Given the description of an element on the screen output the (x, y) to click on. 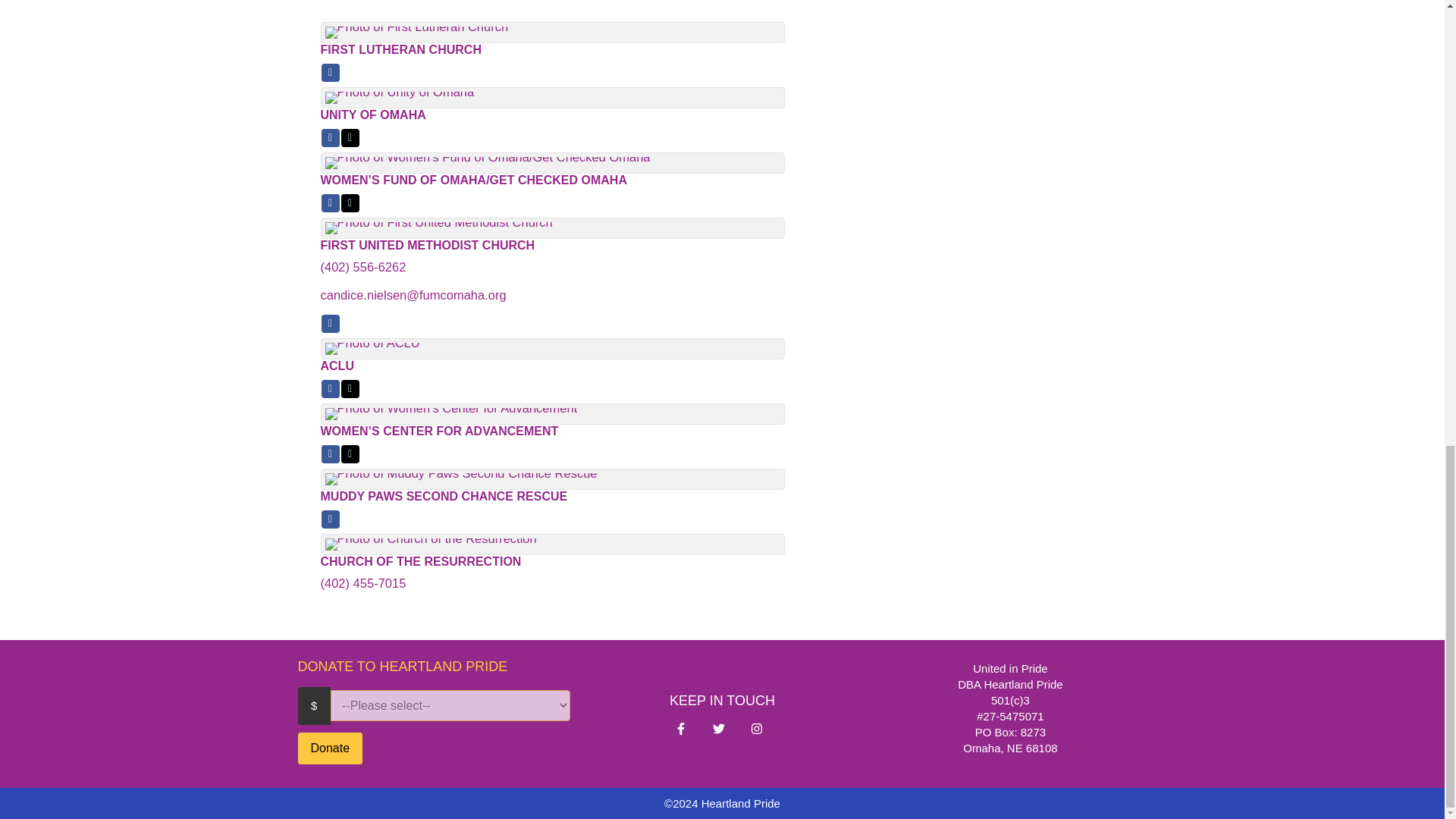
Unity of Omaha (722, 115)
Photo of Unity of Omaha (399, 97)
Photo of First Lutheran Church (416, 32)
First Lutheran Church (722, 49)
